Given the description of an element on the screen output the (x, y) to click on. 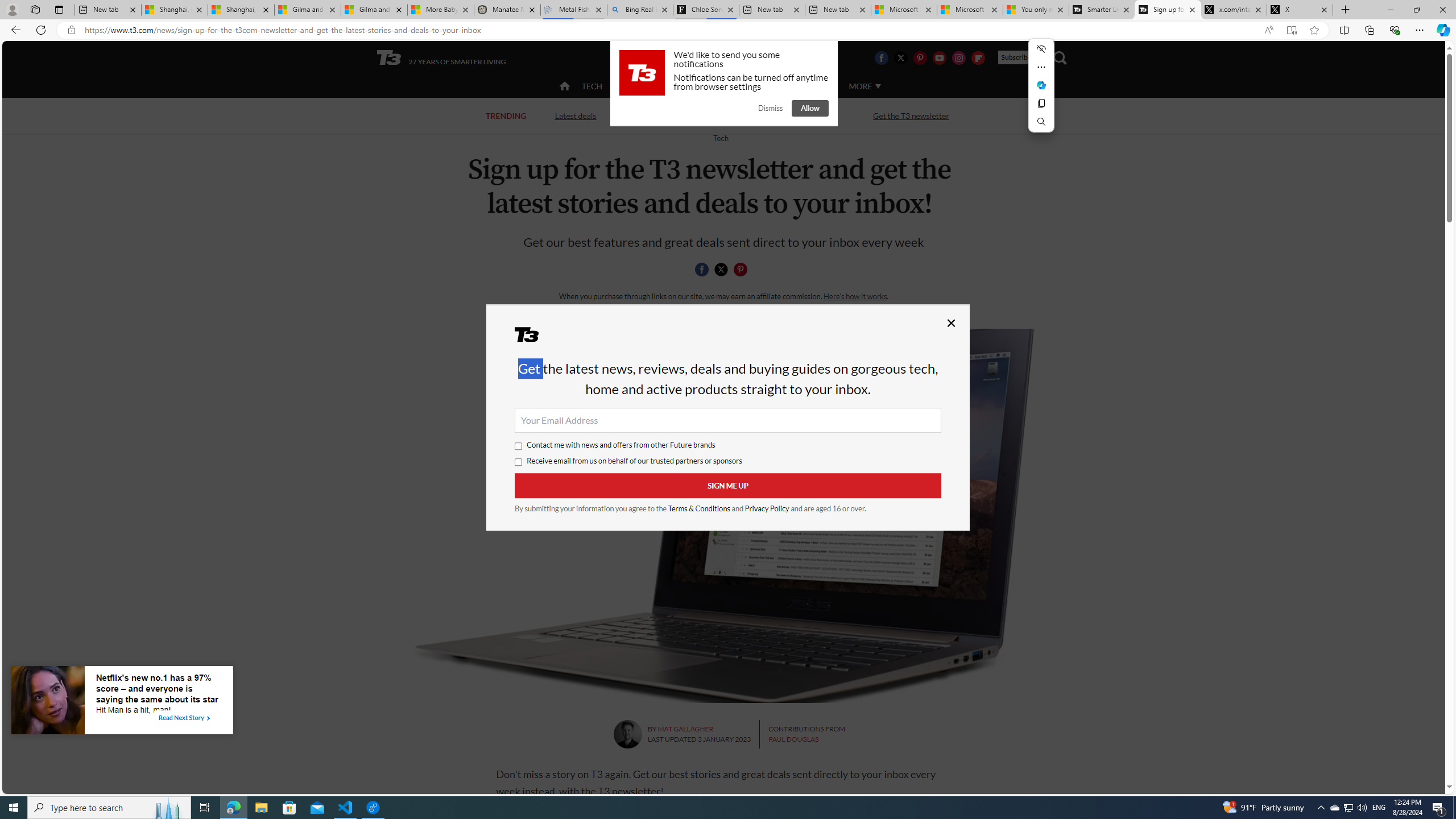
Manatee Mortality Statistics | FWC (507, 9)
Mini menu on text selection (1040, 91)
Class: tbl-arrow-icon arrow-1 (208, 717)
AUTO (815, 85)
Visit us on Twitter (900, 57)
UK Edition (736, 57)
HOME LIVING (701, 86)
Get the T3 newsletter (911, 115)
Latest deals (574, 115)
